Given the description of an element on the screen output the (x, y) to click on. 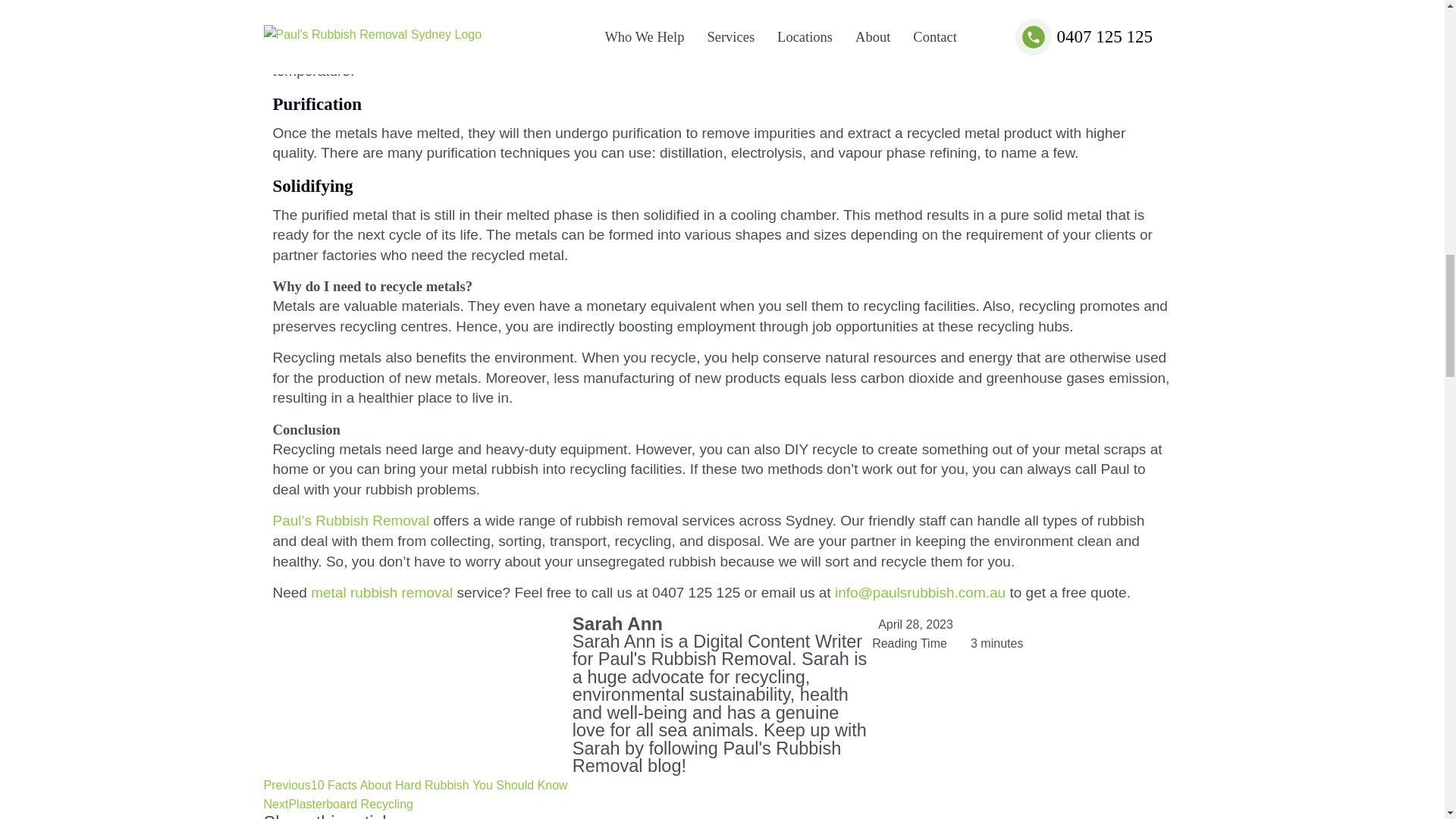
Previous10 Facts About Hard Rubbish You Should Know (415, 784)
NextPlasterboard Recycling (338, 803)
metal rubbish removal (381, 592)
